Given the description of an element on the screen output the (x, y) to click on. 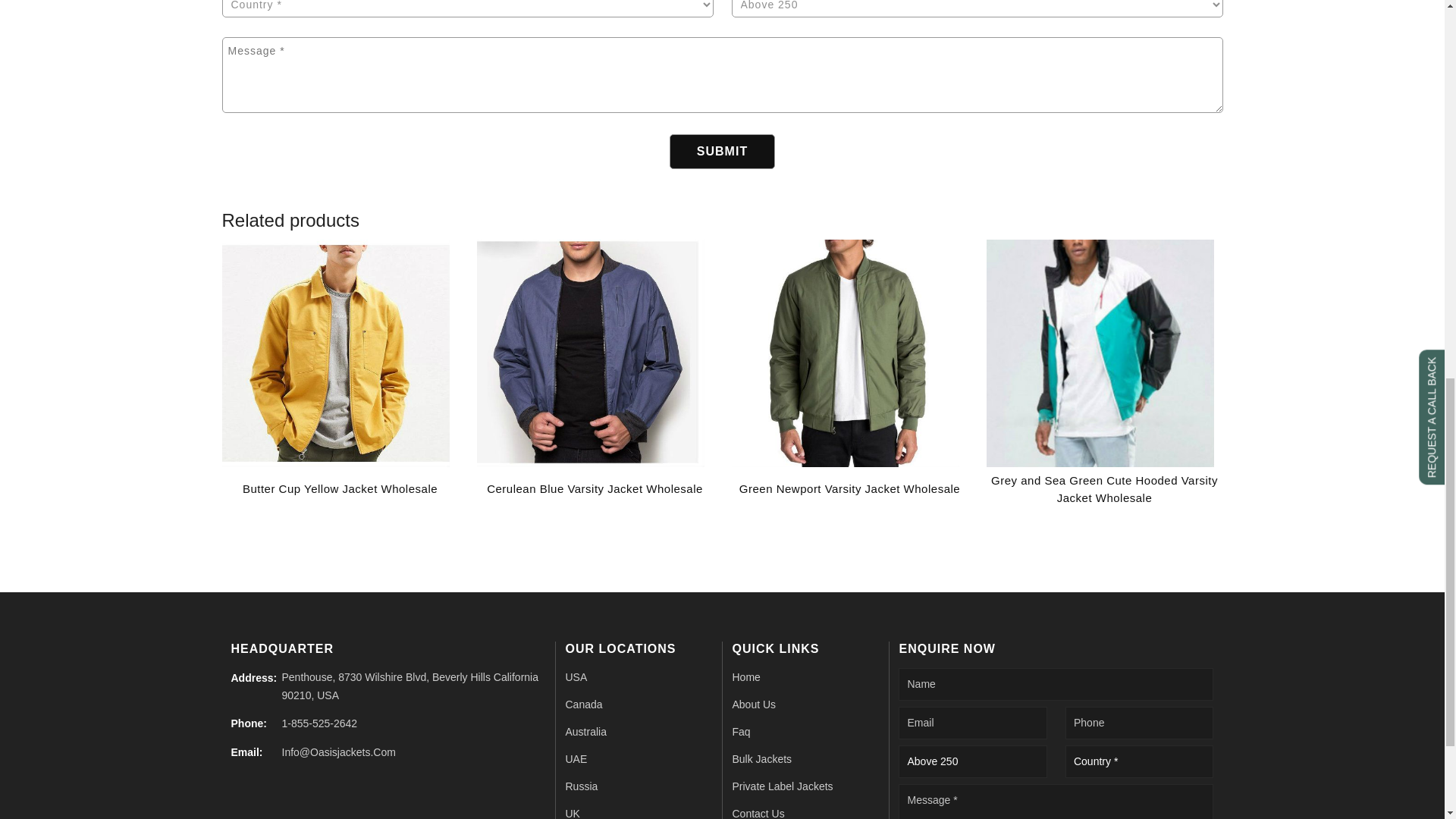
Submit (721, 151)
